Given the description of an element on the screen output the (x, y) to click on. 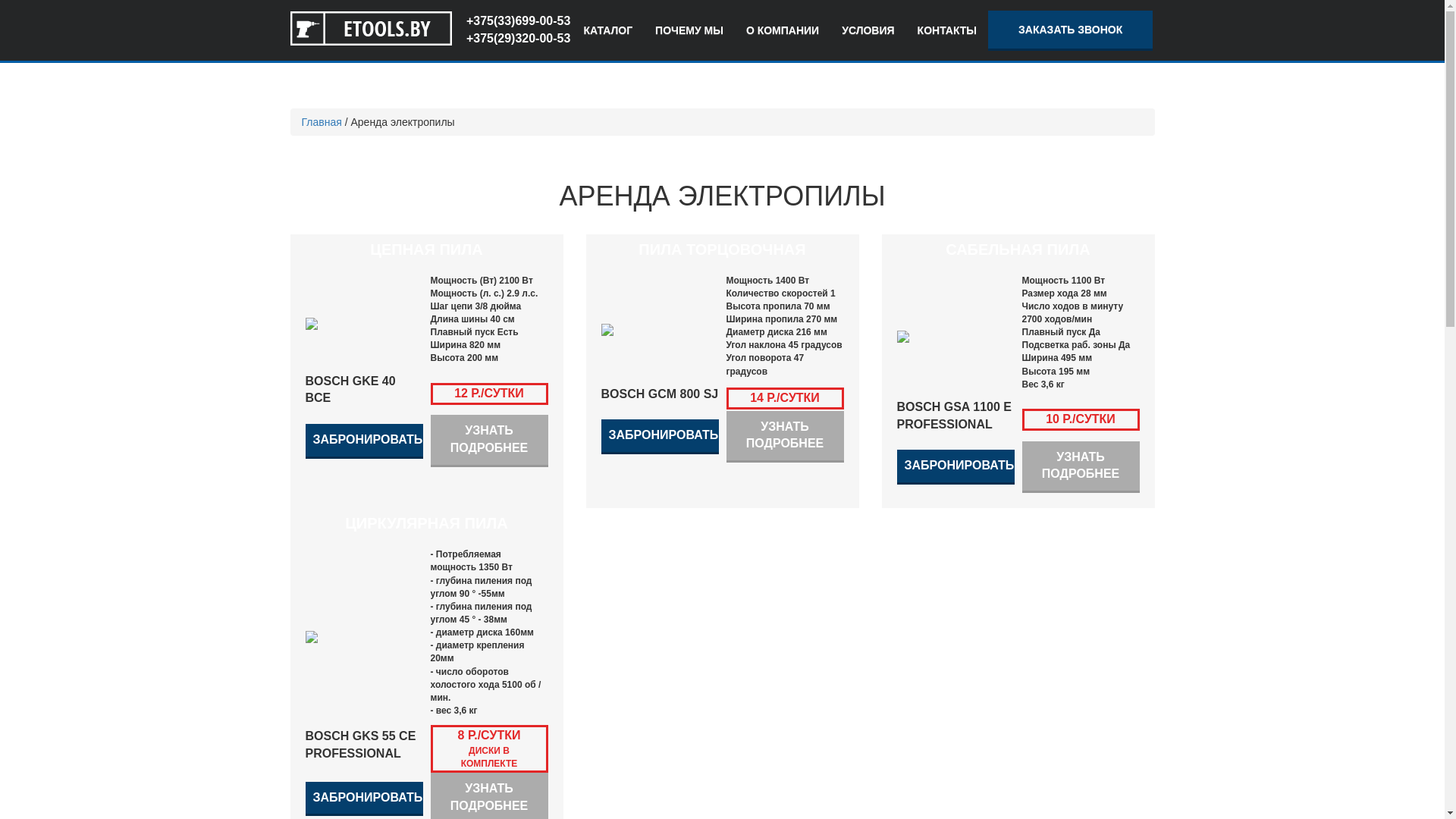
+375(29)320-00-53 Element type: text (518, 38)
+375(33)699-00-53 Element type: text (518, 21)
